Given the description of an element on the screen output the (x, y) to click on. 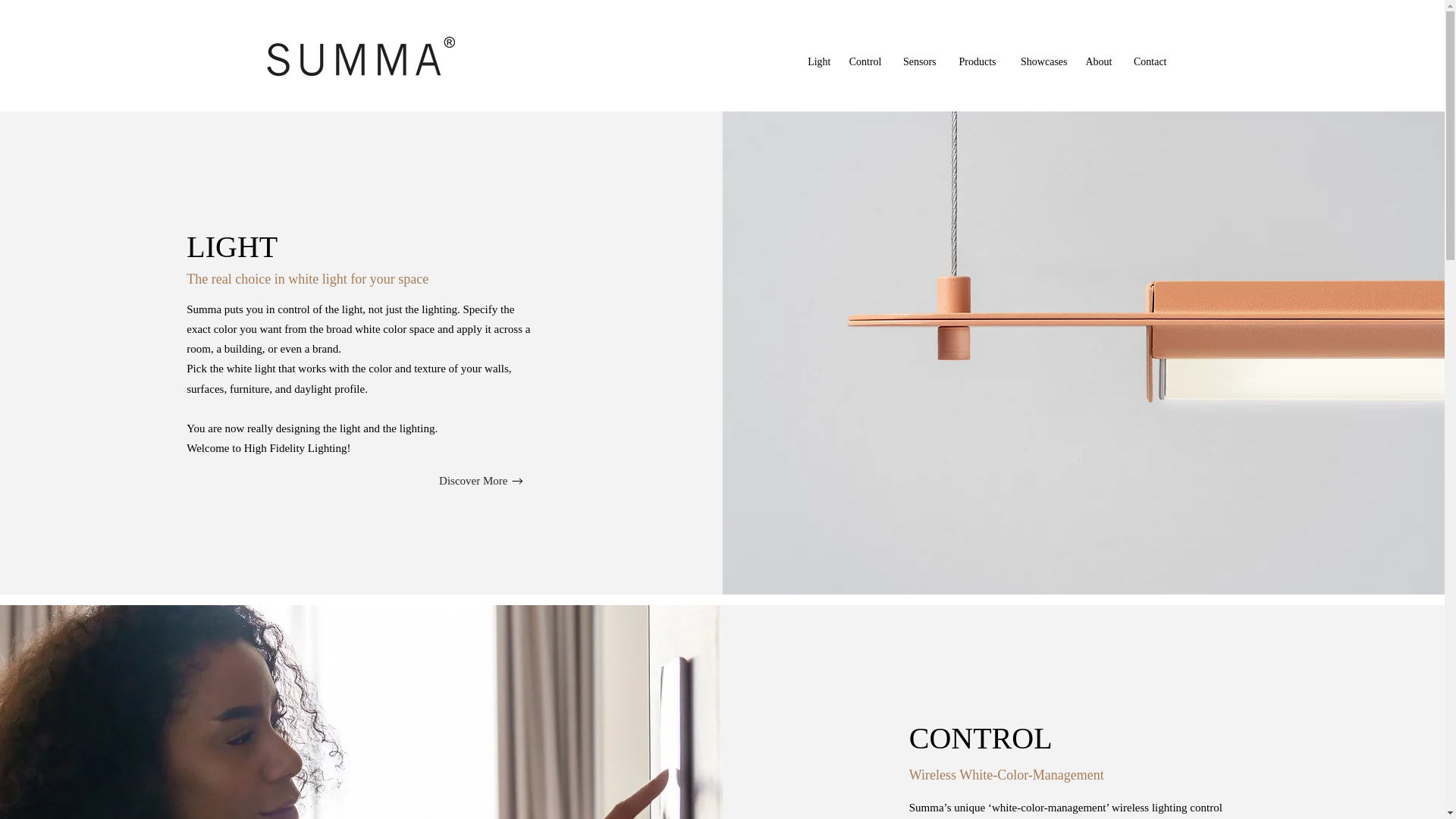
Light (818, 61)
Sensors (915, 61)
Control (863, 61)
About (1097, 61)
Showcases (1039, 61)
Contact (1146, 61)
Discover More (481, 481)
Products (973, 61)
